Given the description of an element on the screen output the (x, y) to click on. 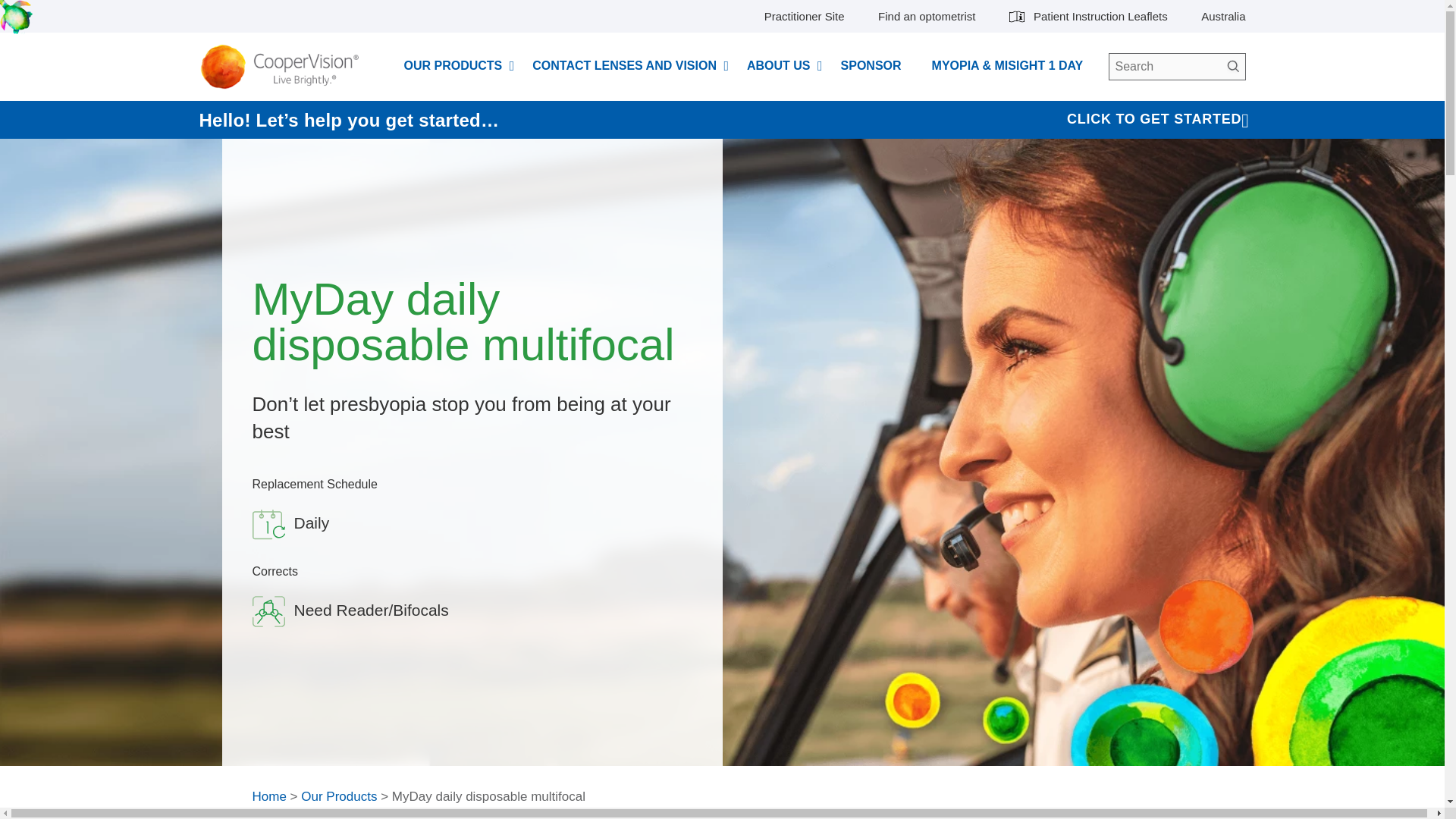
Search (1232, 66)
Search (1232, 66)
Enter the terms you wish to search for. (1177, 66)
OUR PRODUCTS (452, 65)
Find an optometrist (926, 16)
CooperVision Australia (284, 66)
Patient Instruction Leaflets (1088, 16)
Australia (1222, 16)
Practitioner Site (804, 16)
